Given the description of an element on the screen output the (x, y) to click on. 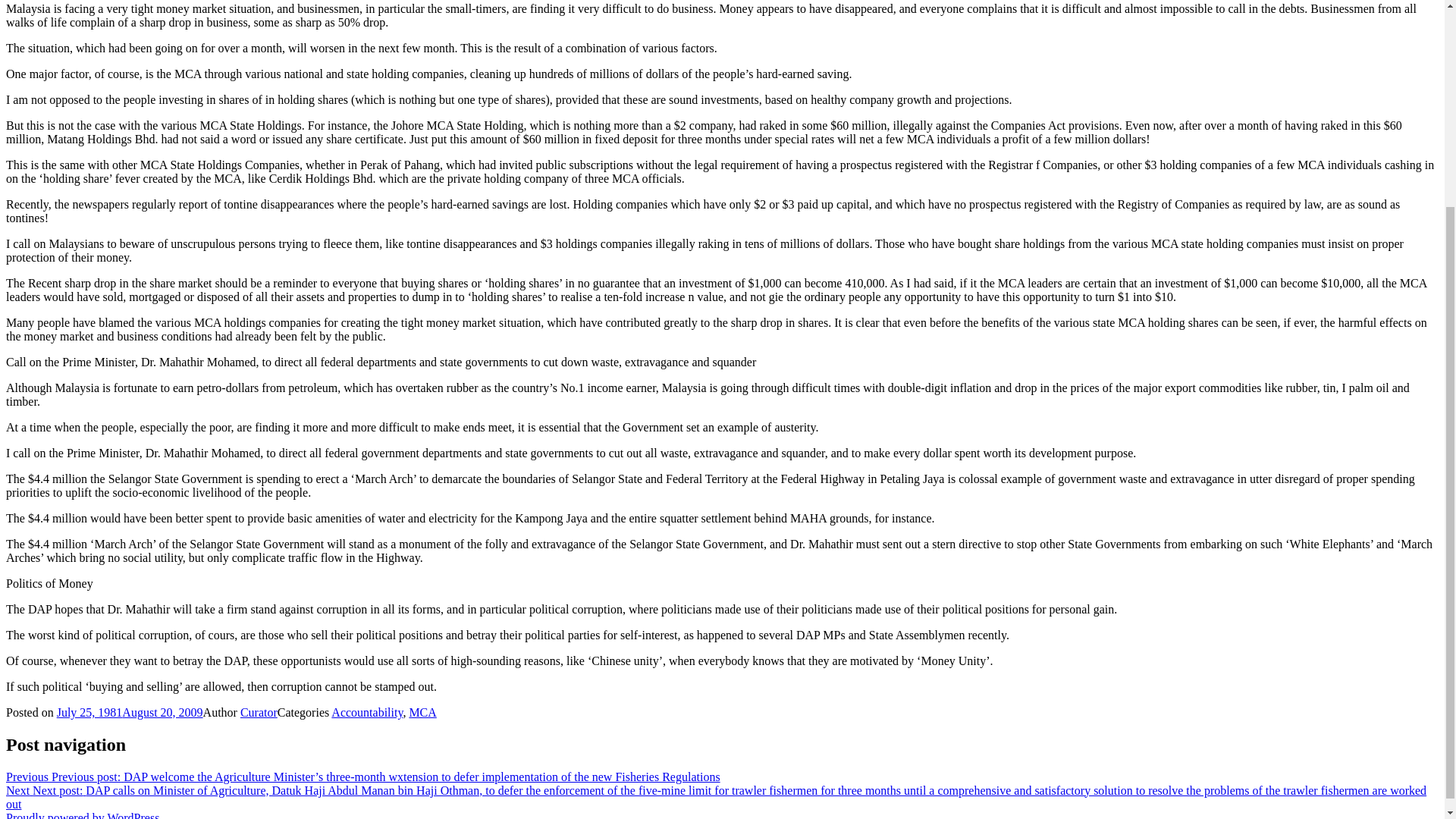
July 25, 1981August 20, 2009 (129, 712)
MCA (422, 712)
Accountability (367, 712)
Curator (259, 712)
